Given the description of an element on the screen output the (x, y) to click on. 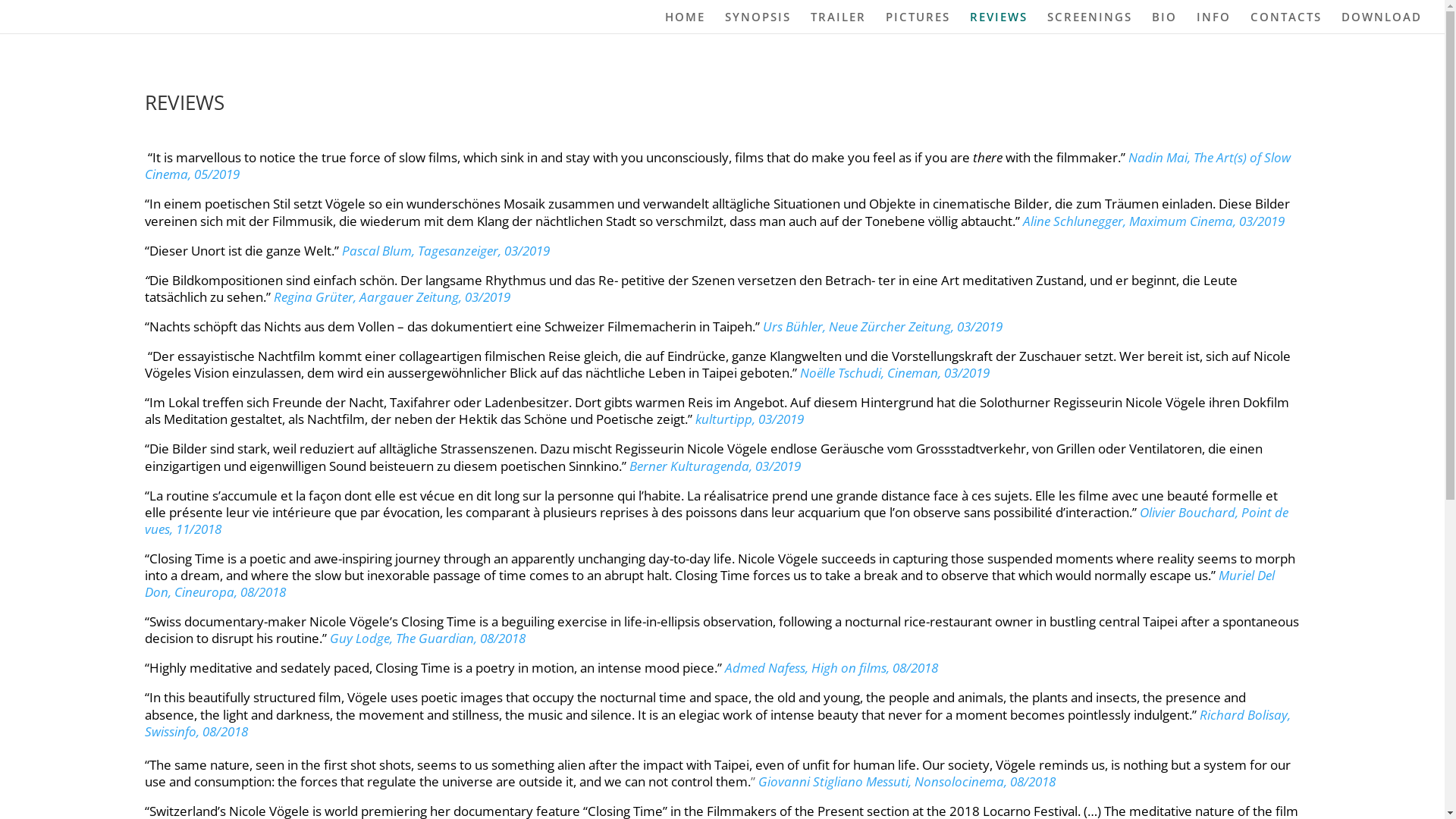
kulturtipp, 03/2019 Element type: text (748, 418)
Richard Bolisay, Swissinfo, 08/2018 Element type: text (716, 723)
Muriel Del Don, Cineuropa, 08/2018 Element type: text (709, 583)
REVIEWS Element type: text (998, 22)
Giovanni Stigliano Messuti, Nonsolocinema, 08/2018 Element type: text (906, 781)
INFO Element type: text (1213, 22)
Berner Kulturagenda, 03/2019 Element type: text (714, 464)
Pascal Blum, Tagesanzeiger, 03/2019  Element type: text (446, 250)
Olivier Bouchard, Point de vues, 11/2018 Element type: text (715, 520)
SYNOPSIS Element type: text (757, 22)
Aline Schlunegger, Maximum Cinema, 03/2019 Element type: text (1152, 220)
DOWNLOAD Element type: text (1381, 22)
Admed Nafess, High on films, 08/2018 Element type: text (831, 667)
HOME Element type: text (685, 22)
Nadin Mai, The Art(s) of Slow Cinema, 05/2019 Element type: text (716, 165)
TRAILER Element type: text (838, 22)
BIO Element type: text (1163, 22)
CONTACTS Element type: text (1285, 22)
Guy Lodge, The Guardian, 08/2018 Element type: text (426, 637)
PICTURES Element type: text (917, 22)
SCREENINGS Element type: text (1089, 22)
